Given the description of an element on the screen output the (x, y) to click on. 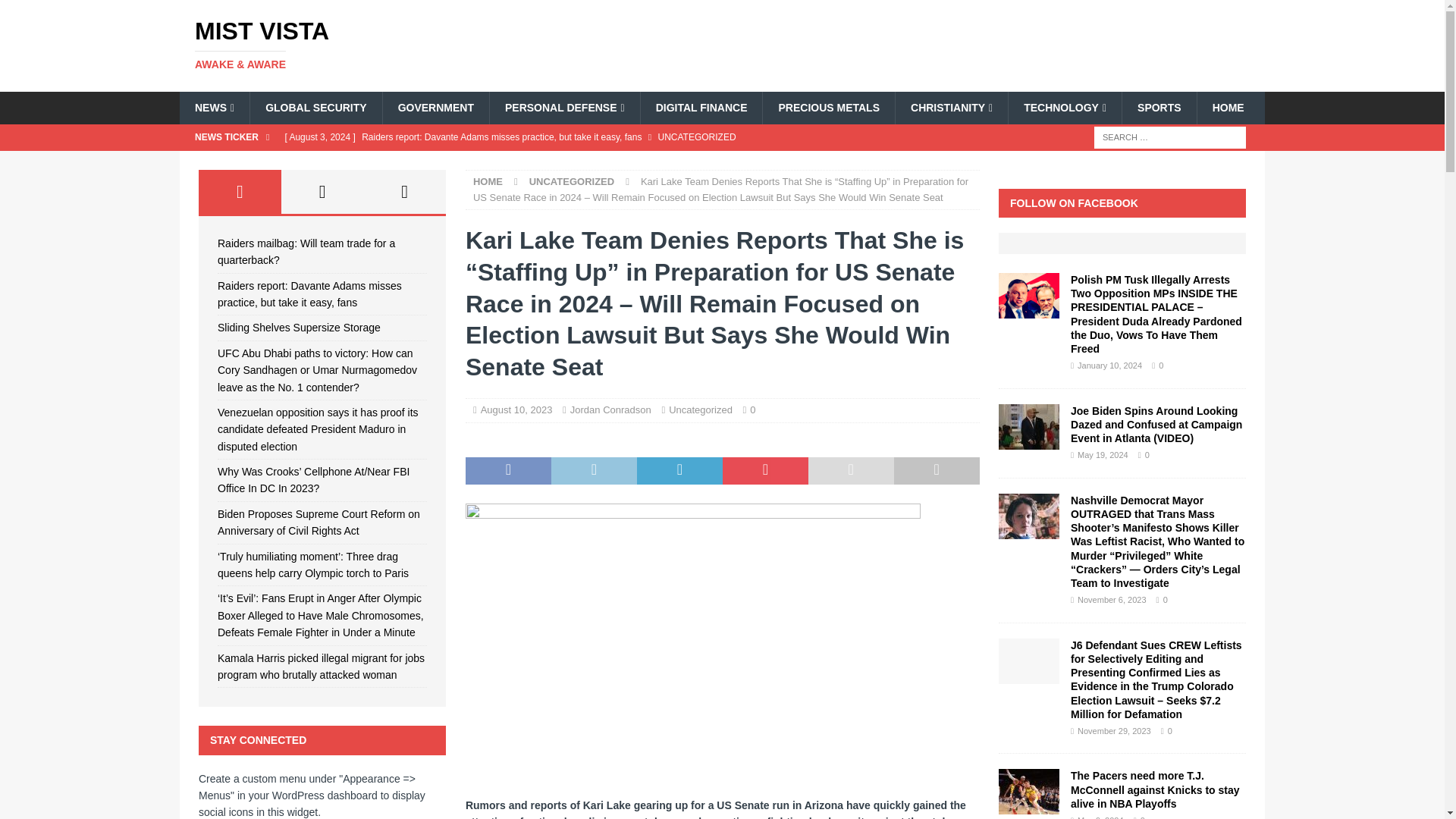
CHRISTIANITY (951, 107)
GOVERNMENT (435, 107)
PERSONAL DEFENSE (564, 107)
Search (56, 11)
TECHNOLOGY (1064, 107)
GLOBAL SECURITY (314, 107)
Sliding Shelves Supersize Storage (581, 162)
Mist Vista (351, 44)
HOME (1227, 107)
SPORTS (1158, 107)
